Given the description of an element on the screen output the (x, y) to click on. 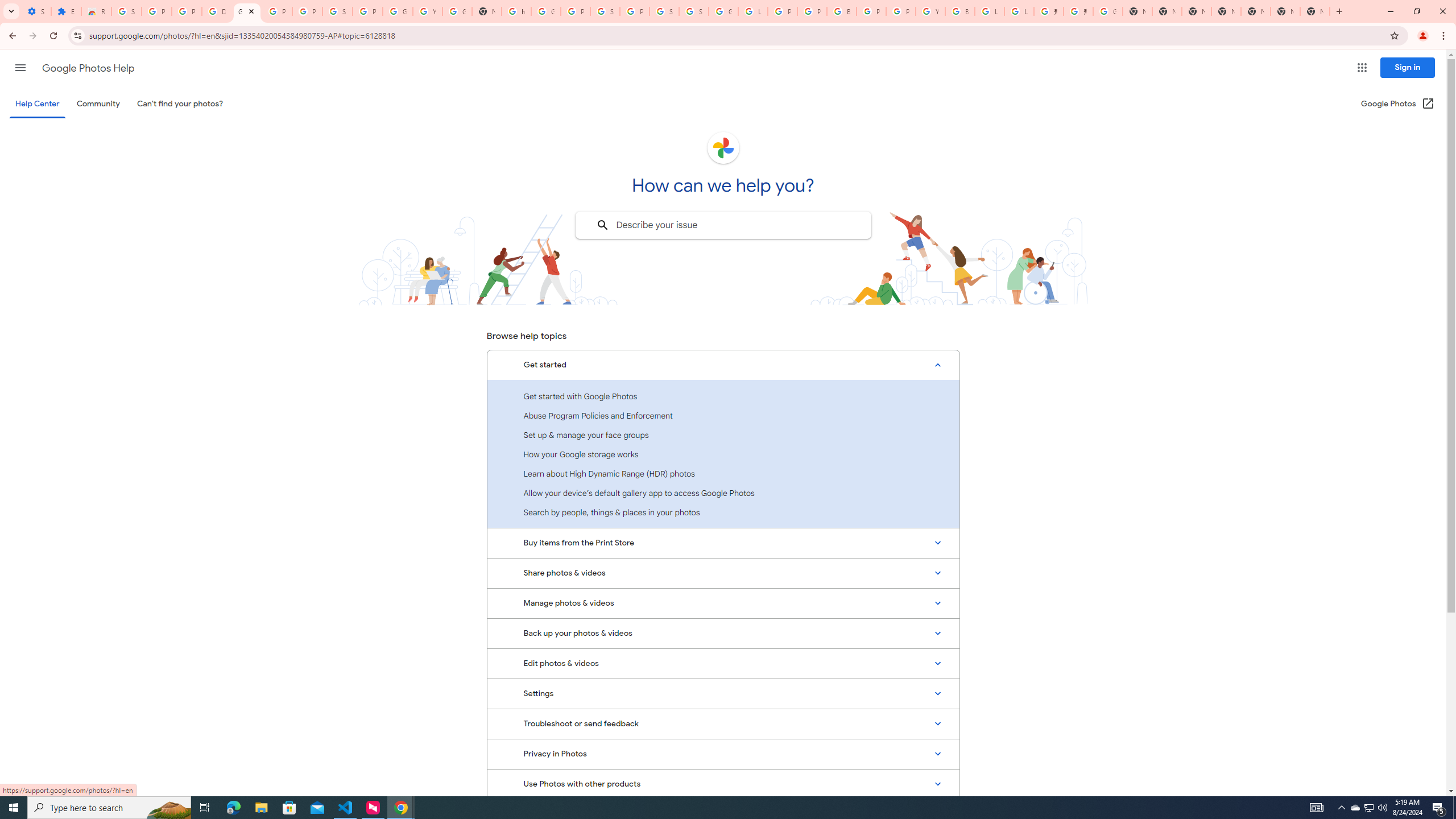
Troubleshoot or send feedback (722, 723)
Google Photos Help (247, 11)
Help Center (36, 103)
Share photos & videos (722, 573)
Manage photos & videos (722, 603)
Sign in - Google Accounts (664, 11)
New Tab (1314, 11)
